Given the description of an element on the screen output the (x, y) to click on. 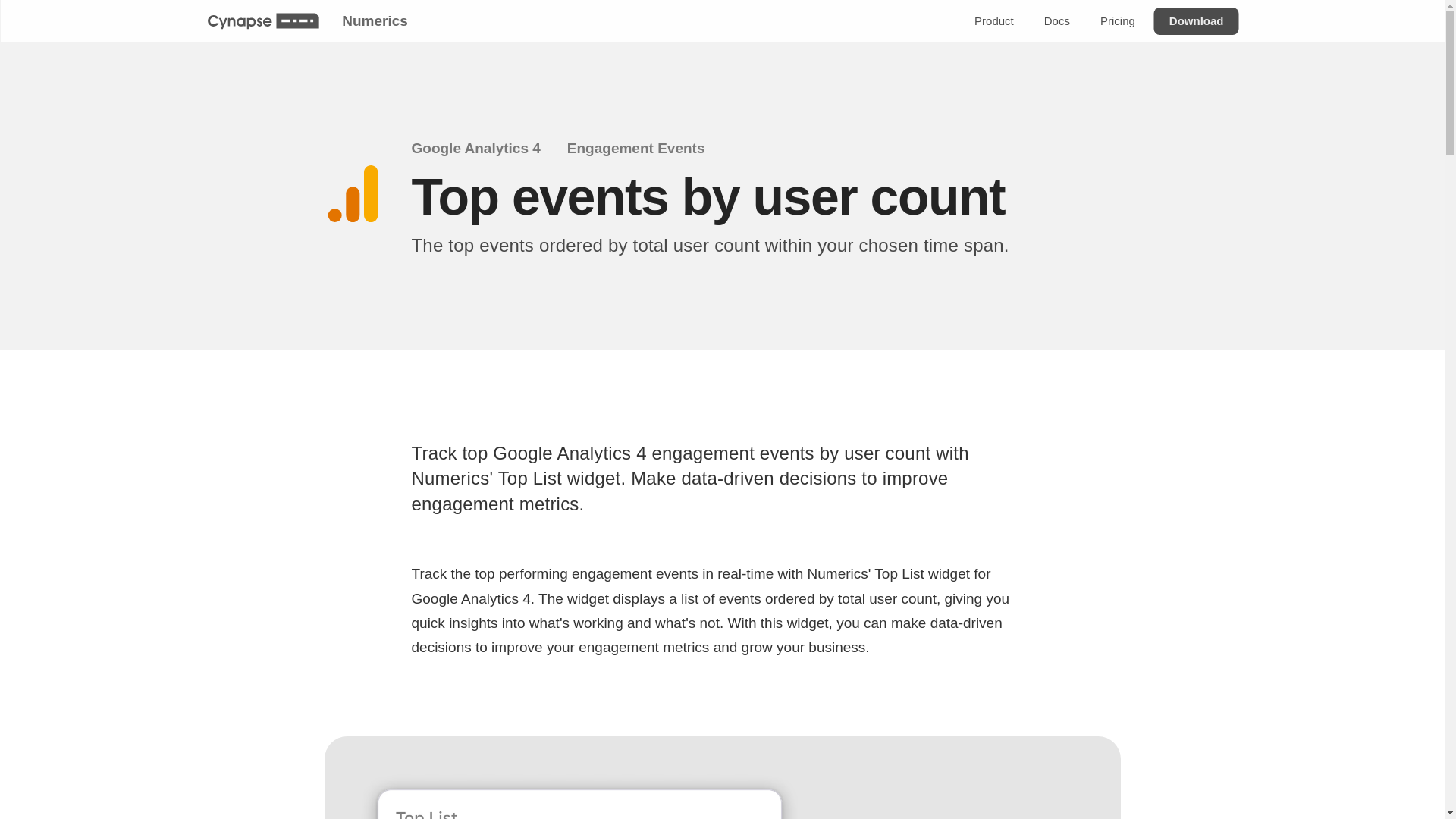
Docs (1056, 21)
Pricing (1116, 21)
Product (993, 21)
Numerics (373, 20)
Engagement Events (645, 148)
Google Analytics 4 (484, 148)
Download (1196, 21)
